Given the description of an element on the screen output the (x, y) to click on. 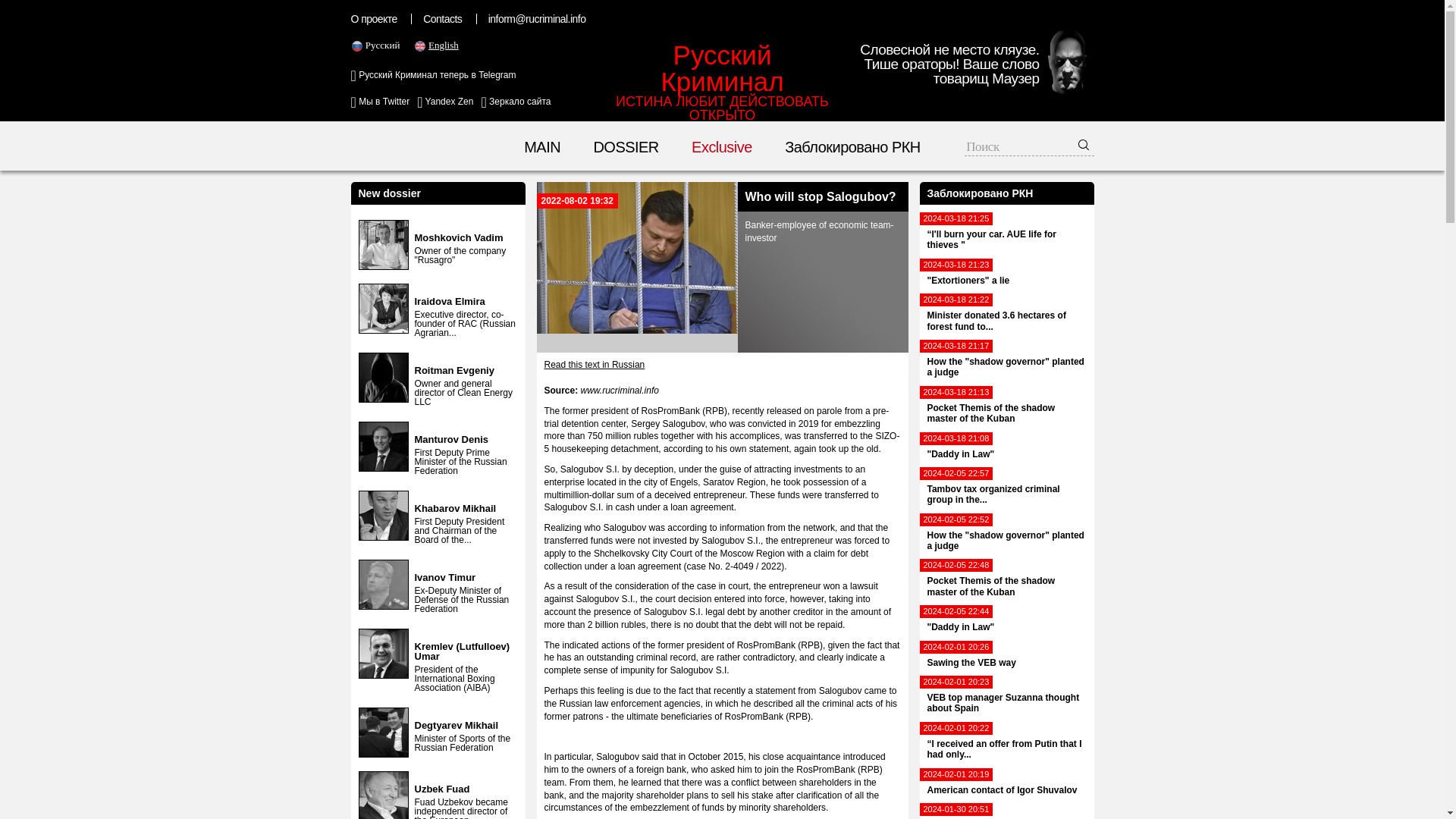
Exclusive (1005, 657)
Roitman Evgeniy (1005, 449)
Yandex Zen (721, 146)
DOSSIER (453, 369)
Contacts (444, 102)
